Given the description of an element on the screen output the (x, y) to click on. 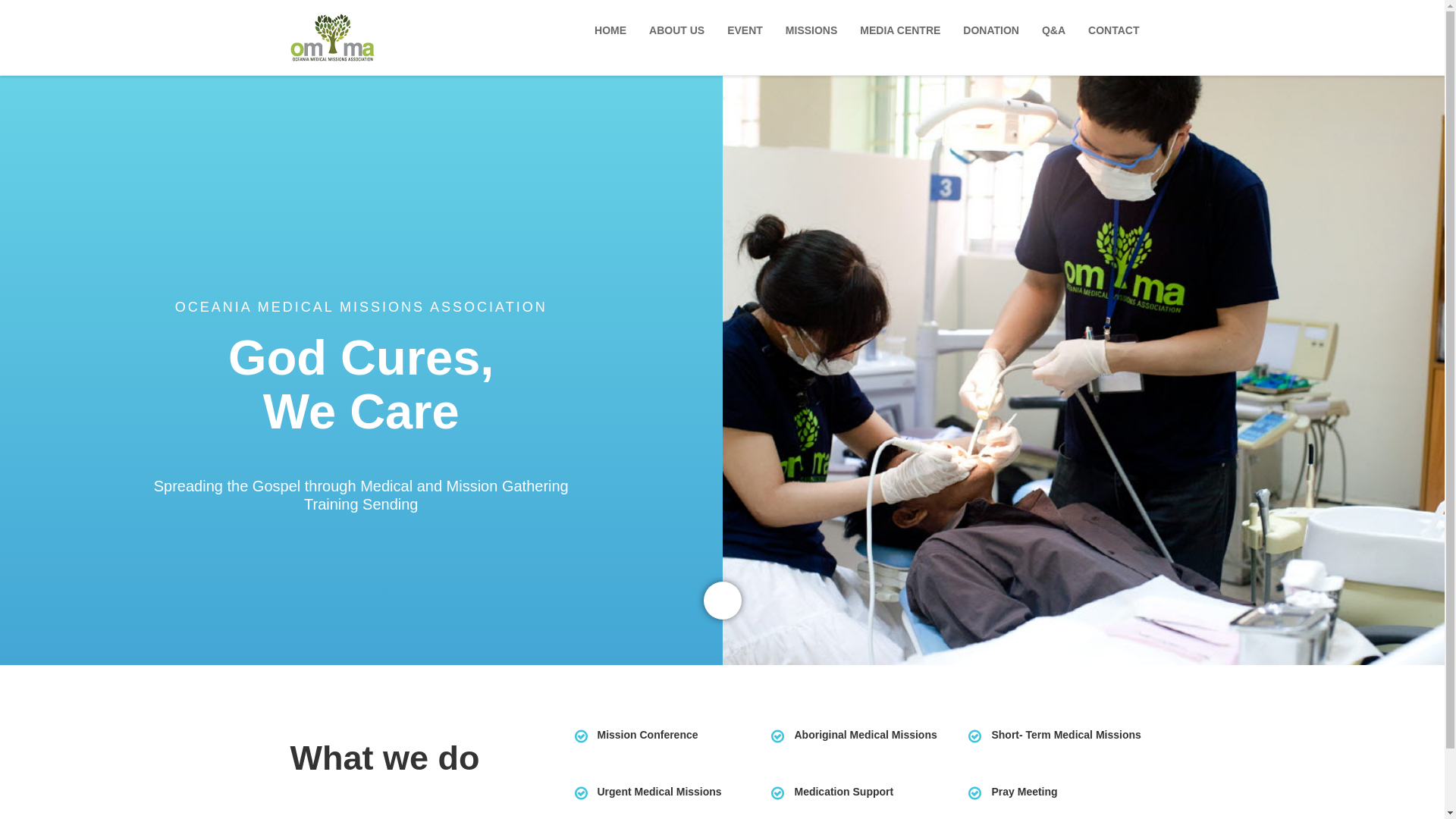
HOME Element type: text (613, 30)
EVENT Element type: text (748, 30)
Q&A Element type: text (1057, 30)
CONTACT Element type: text (1117, 30)
ABOUT US Element type: text (680, 30)
MISSIONS Element type: text (815, 30)
MEDIA CENTRE Element type: text (903, 30)
DONATION Element type: text (994, 30)
